Given the description of an element on the screen output the (x, y) to click on. 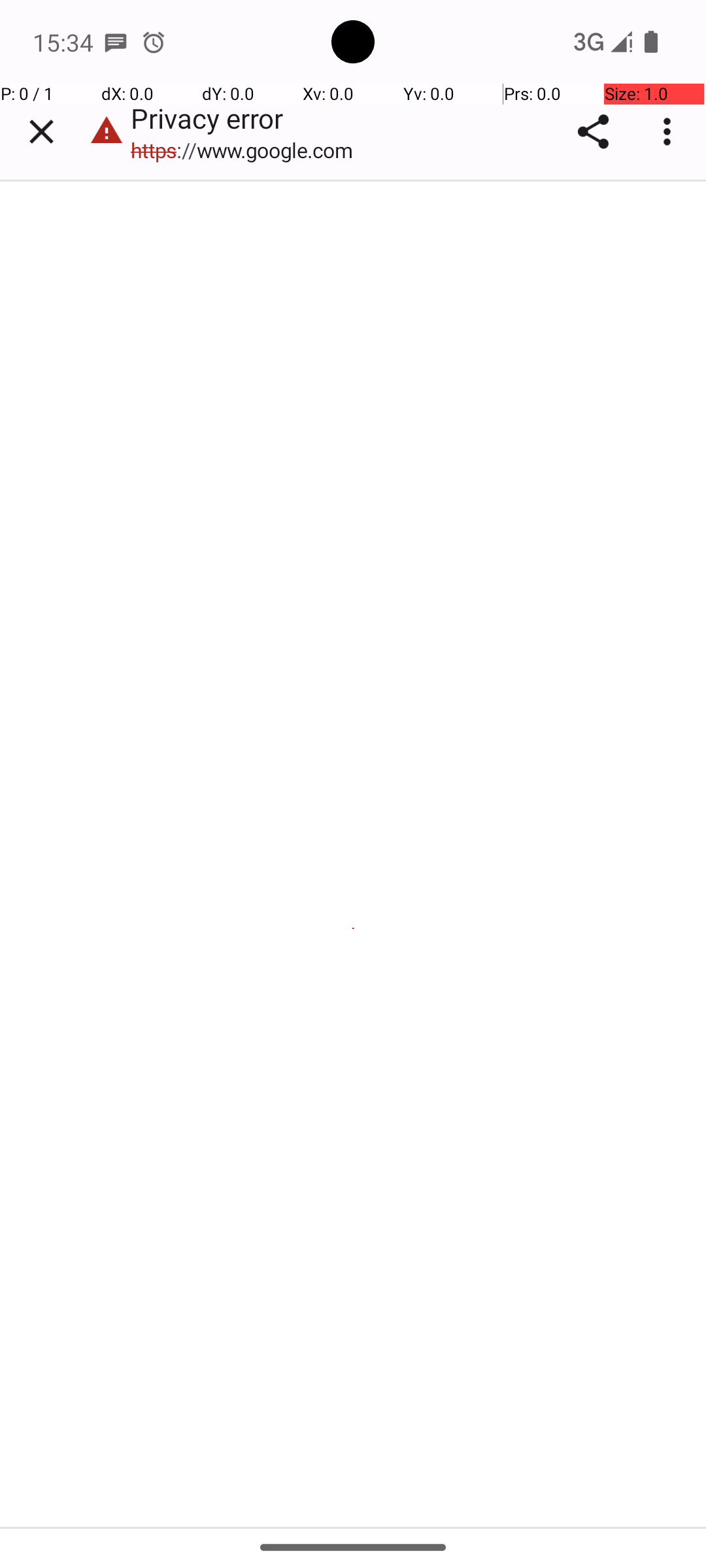
https://www.google.com Element type: android.widget.TextView (248, 149)
www.google.com Element type: android.widget.TextView (136, 653)
